Given the description of an element on the screen output the (x, y) to click on. 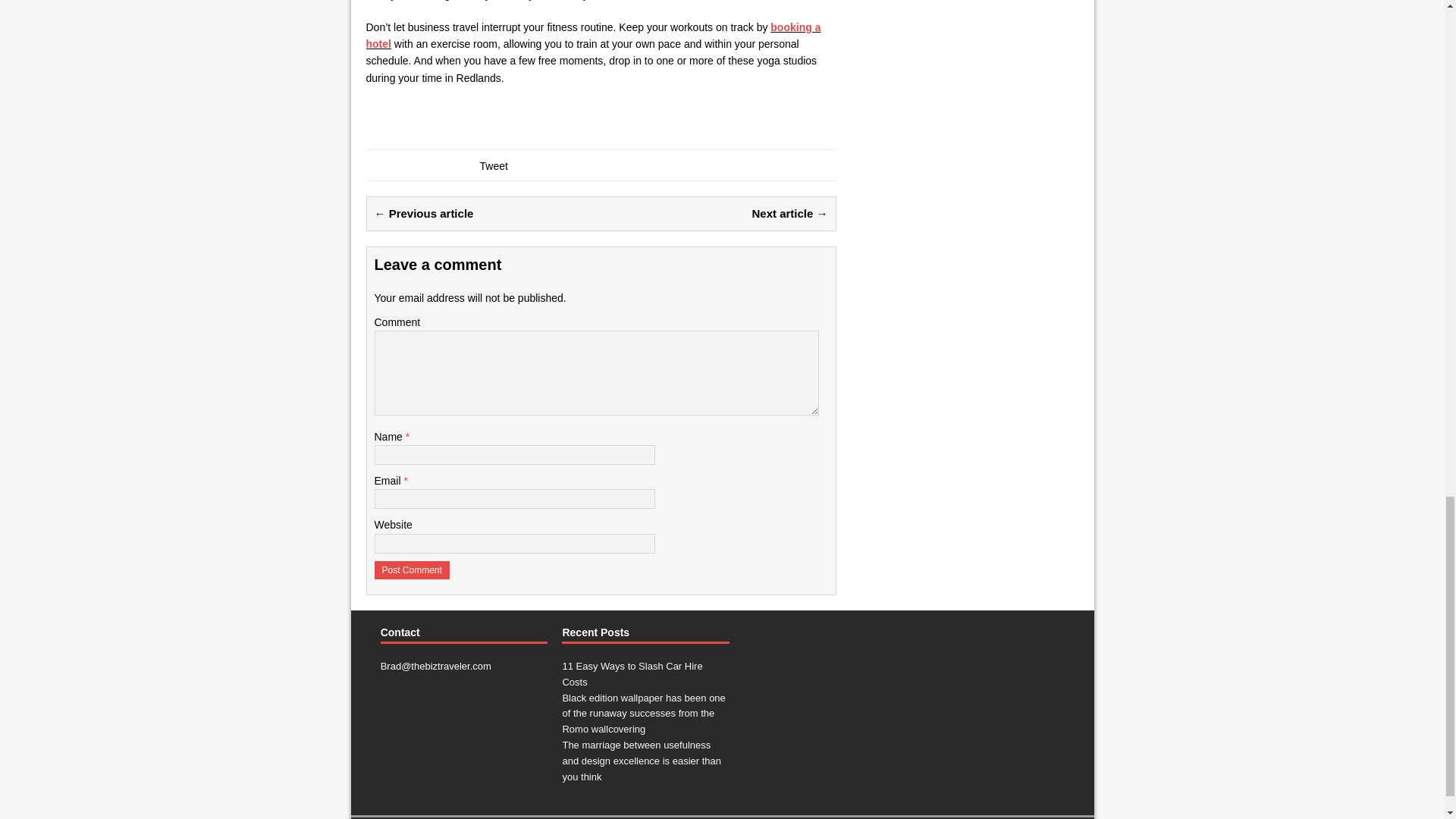
Post Comment (411, 570)
Tweet (492, 165)
Post Comment (411, 570)
booking a hotel (593, 35)
